Given the description of an element on the screen output the (x, y) to click on. 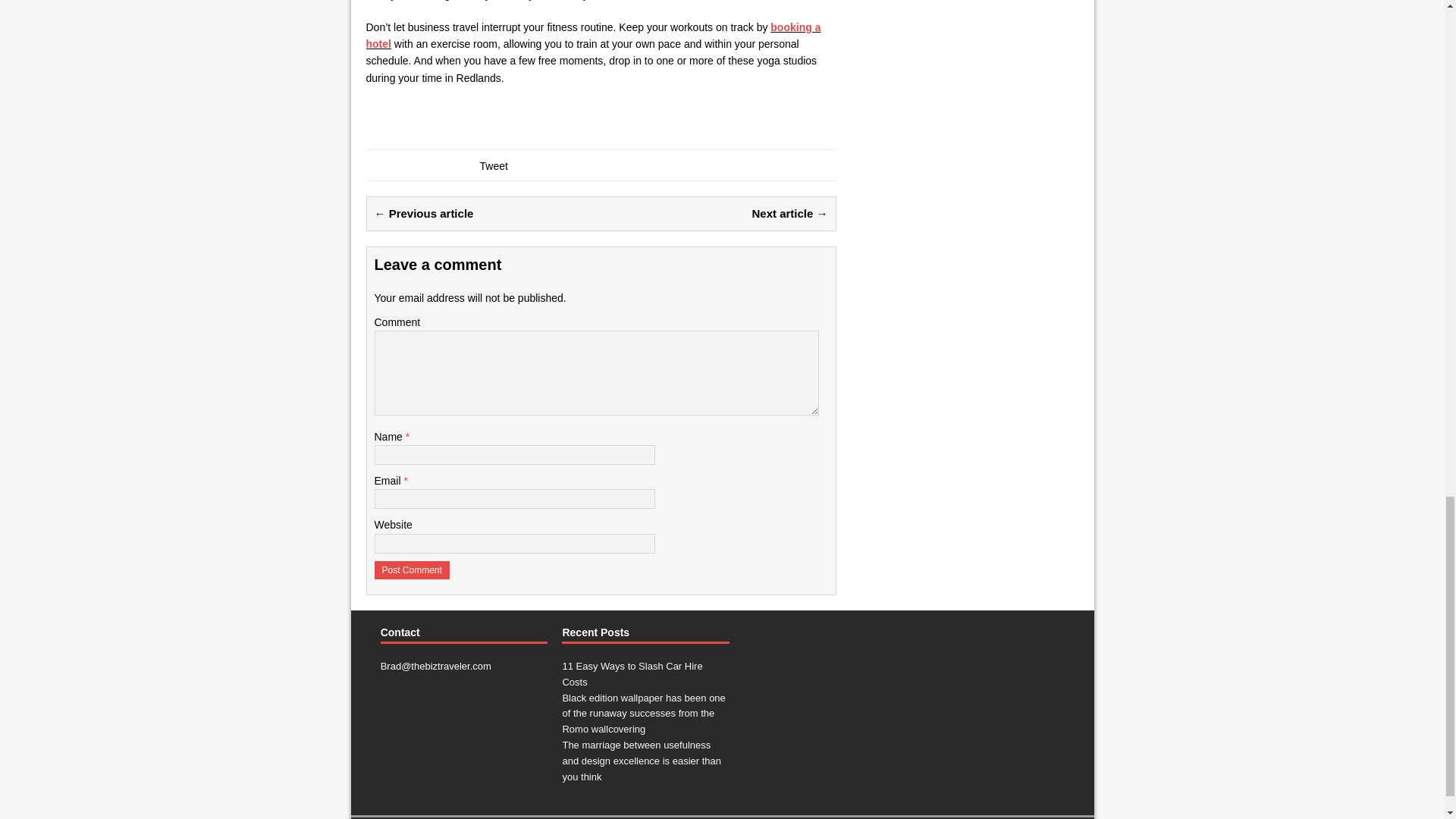
Post Comment (411, 570)
Tweet (492, 165)
Post Comment (411, 570)
booking a hotel (593, 35)
